Given the description of an element on the screen output the (x, y) to click on. 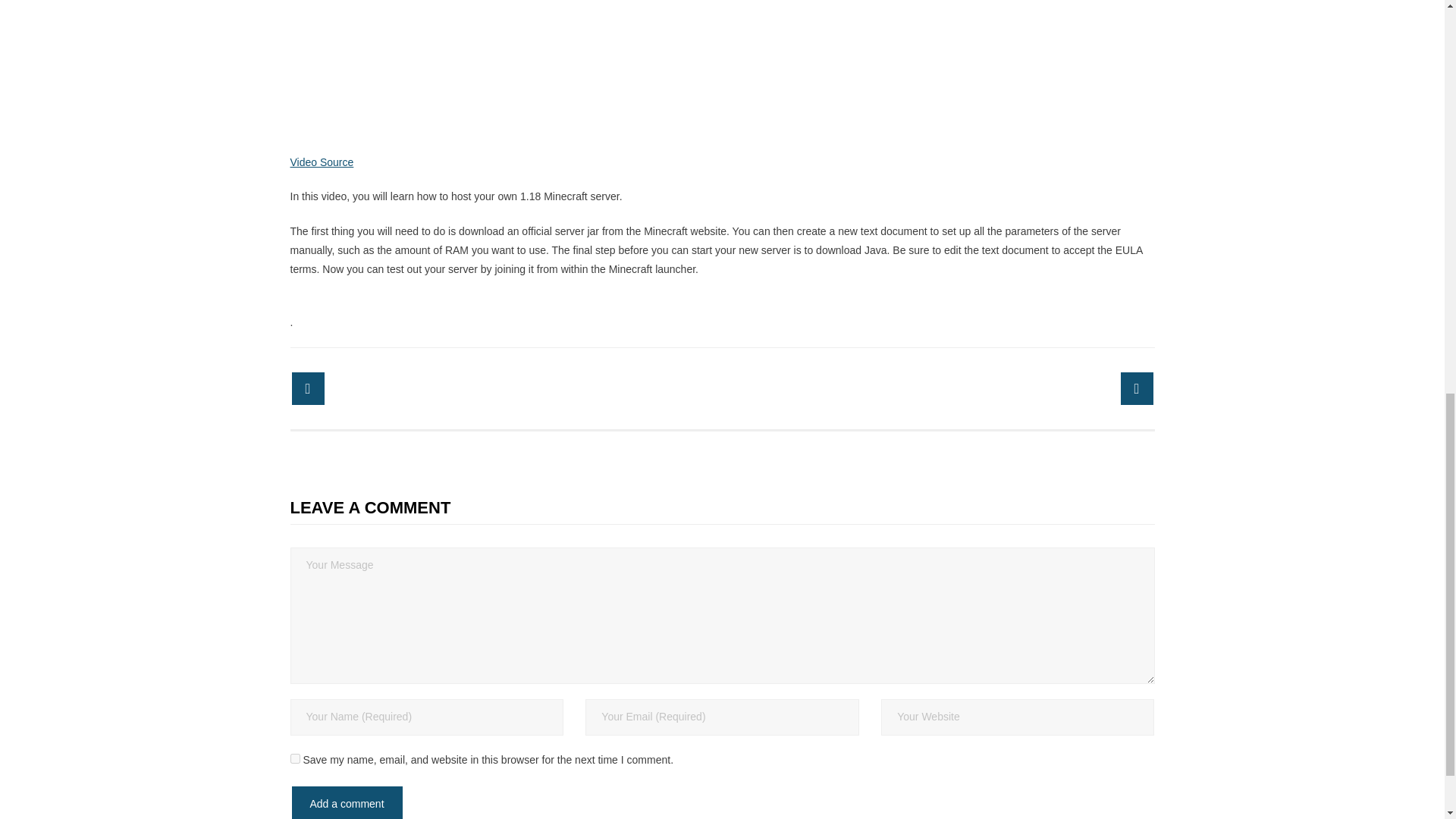
Video Source (321, 162)
yes (294, 758)
Add a comment (346, 801)
Add a comment (346, 801)
